Given the description of an element on the screen output the (x, y) to click on. 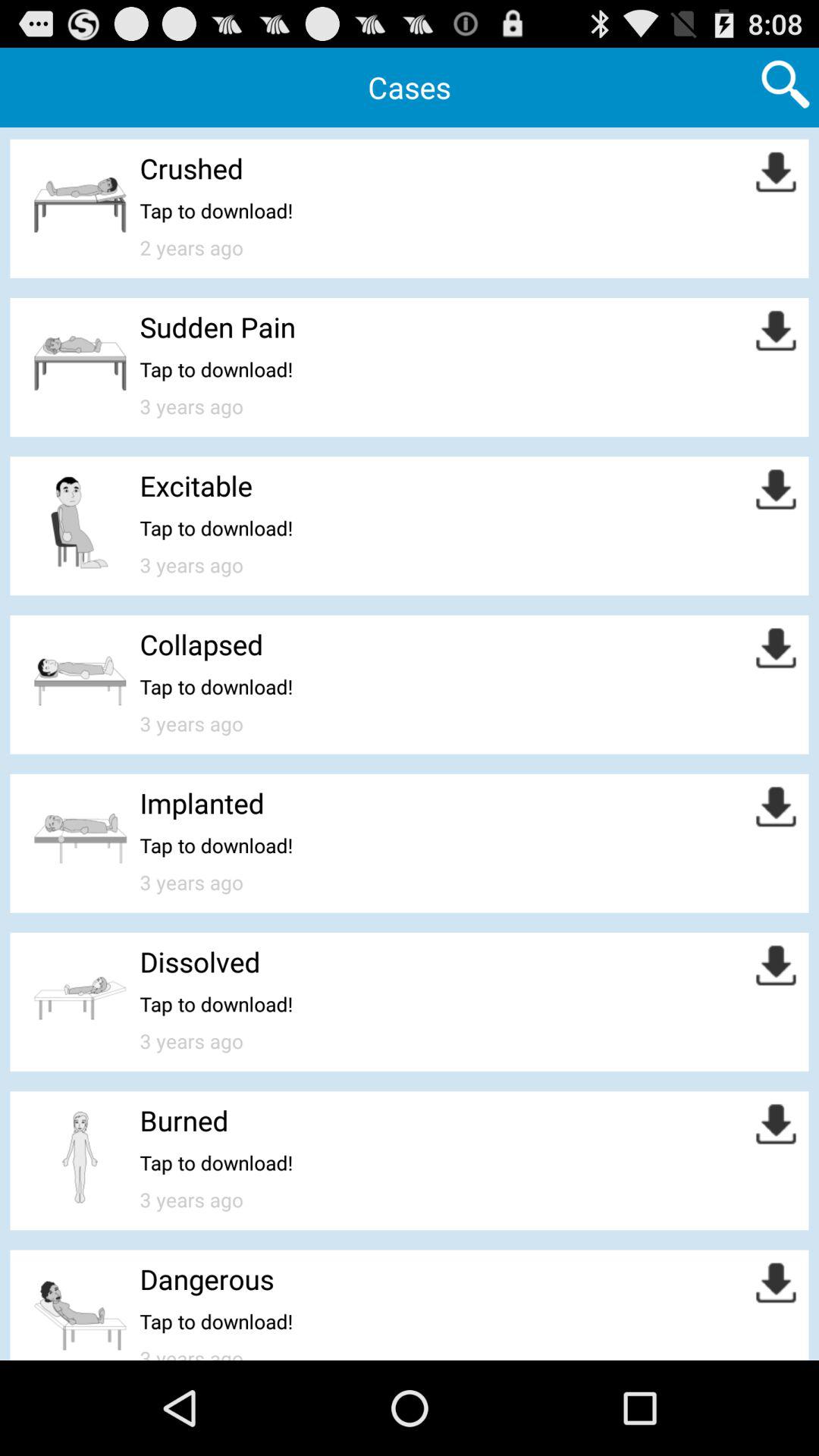
jump to the implanted icon (201, 802)
